Given the description of an element on the screen output the (x, y) to click on. 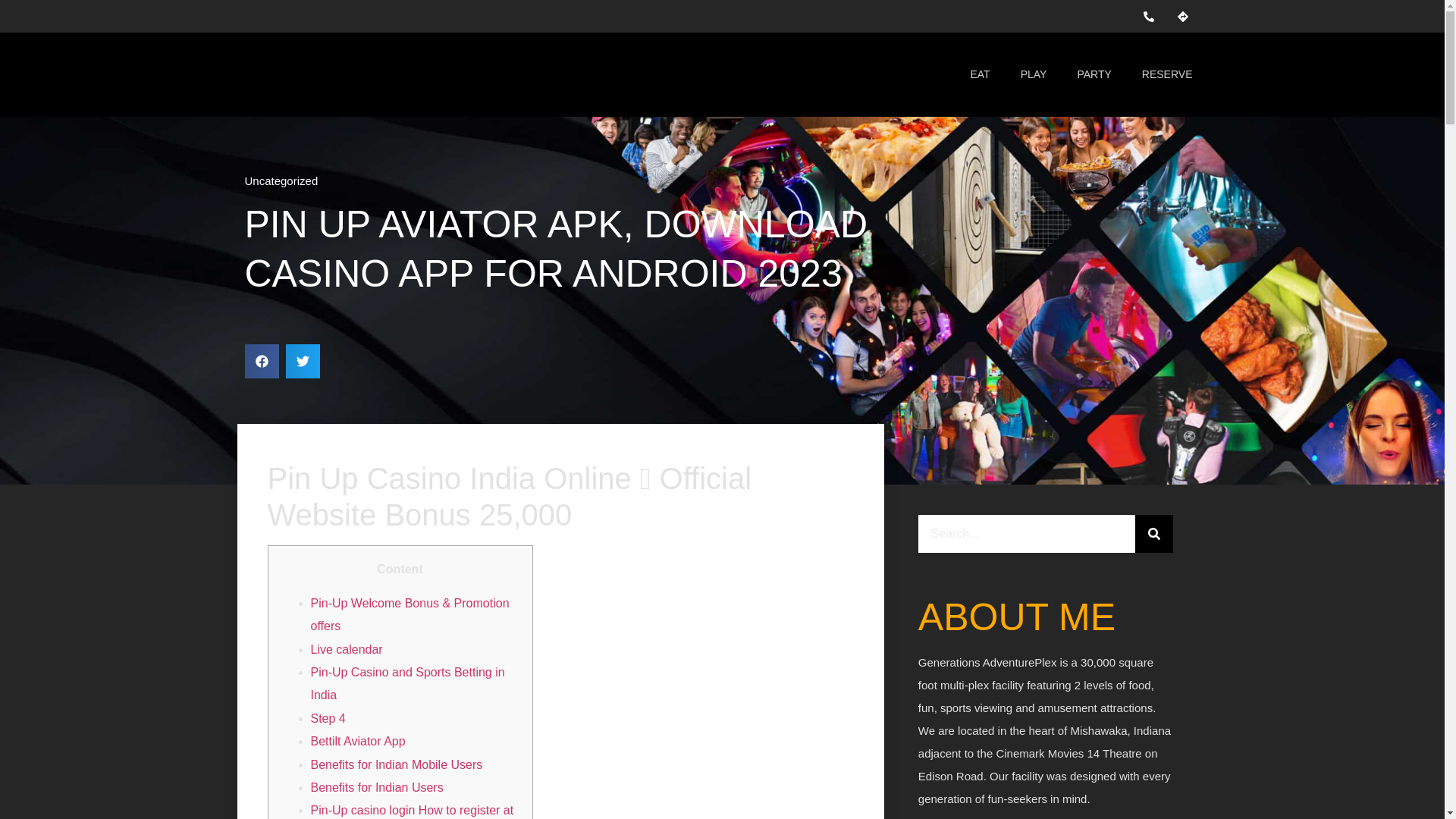
PLAY (1034, 74)
PARTY (1093, 74)
EAT (979, 74)
RESERVE (1167, 74)
